Given the description of an element on the screen output the (x, y) to click on. 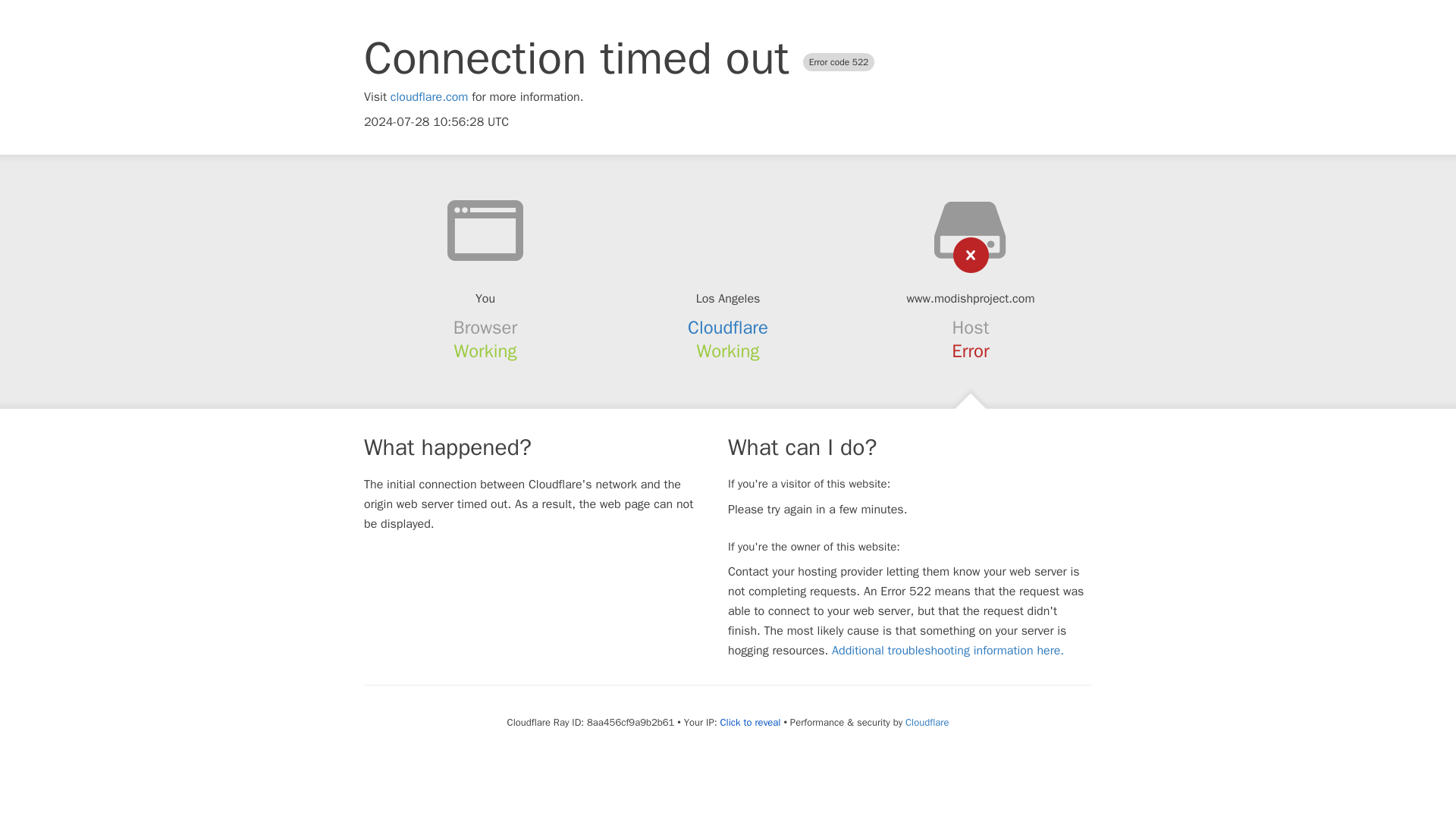
cloudflare.com (429, 96)
Click to reveal (750, 722)
Cloudflare (727, 327)
Cloudflare (927, 721)
Additional troubleshooting information here. (947, 650)
